Given the description of an element on the screen output the (x, y) to click on. 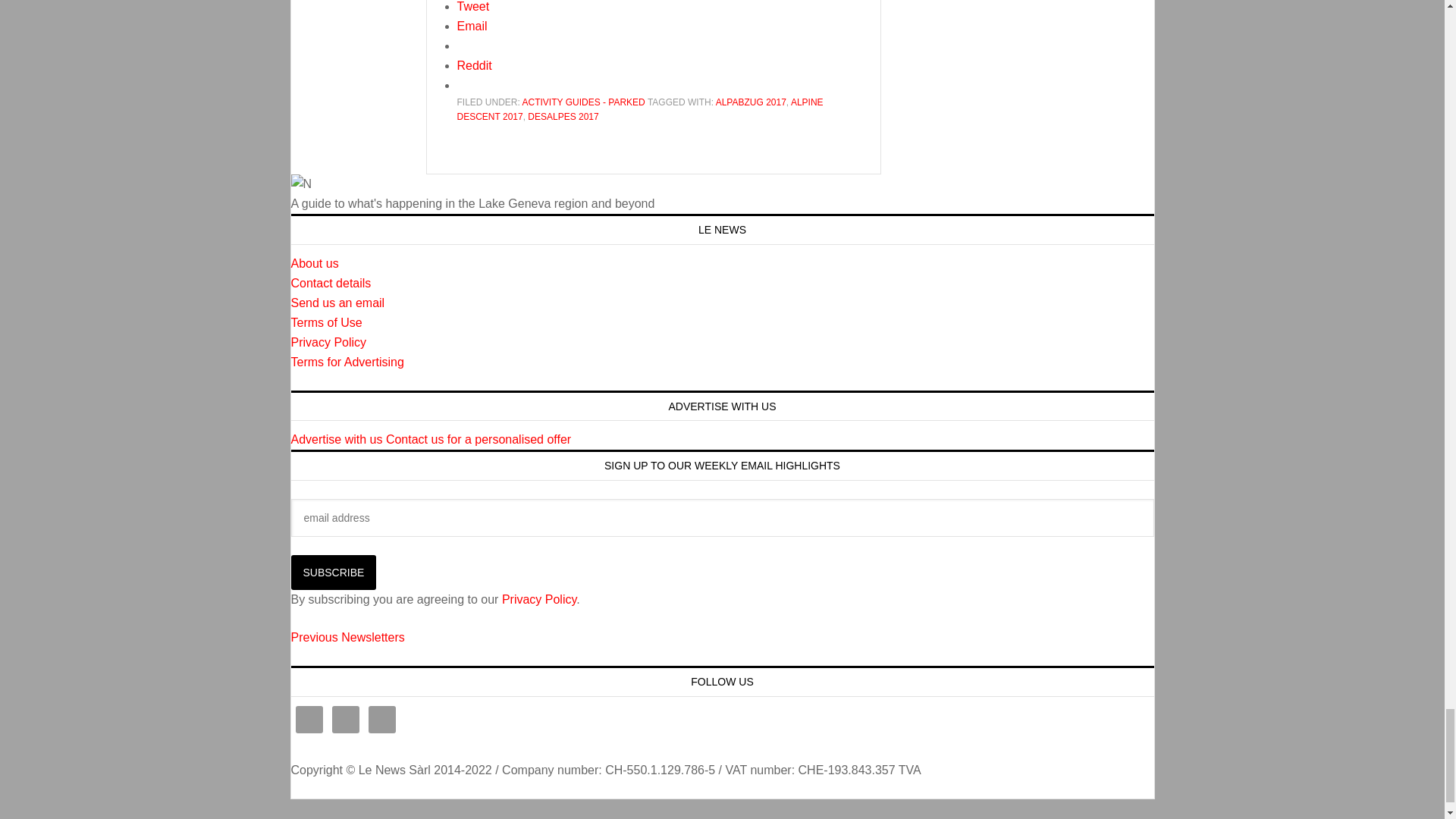
Privacy Policy (328, 341)
Terms and Conditions (326, 322)
Click to email a link to a friend (471, 25)
ABOUT US (315, 263)
CONTACT (331, 282)
Advertising Terms and Conditions (347, 361)
Click to share on Reddit (474, 65)
Previous Newsletters (347, 636)
Subscribe (334, 572)
